Given the description of an element on the screen output the (x, y) to click on. 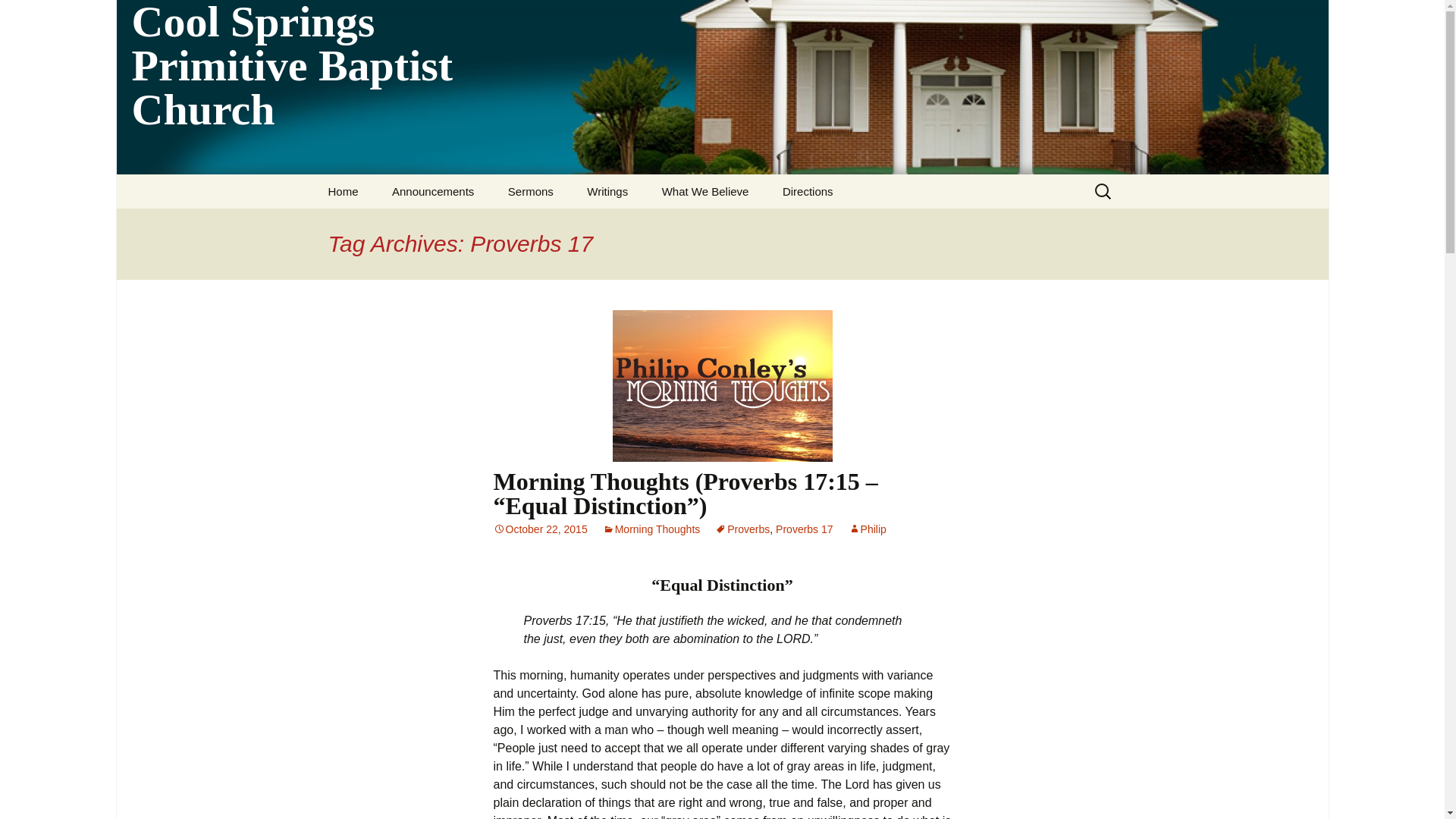
October 22, 2015 (539, 529)
Proverbs 17 (804, 529)
Proverbs (742, 529)
What We Believe (705, 191)
Writings (607, 191)
Philip (867, 529)
Home (342, 191)
Sermons (531, 191)
Directions (807, 191)
Announcements (433, 191)
